Given the description of an element on the screen output the (x, y) to click on. 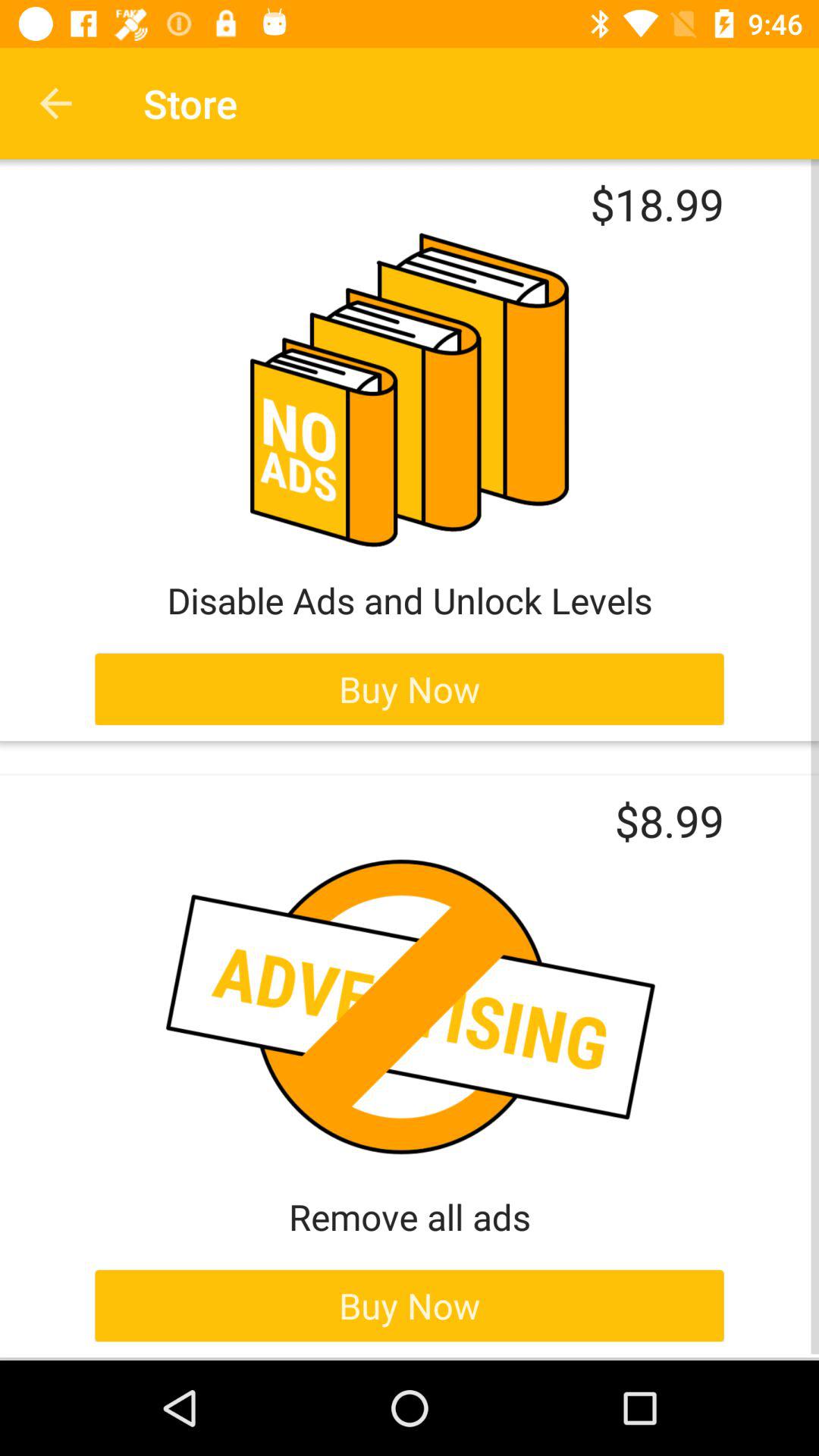
turn on item to the left of store item (55, 103)
